Given the description of an element on the screen output the (x, y) to click on. 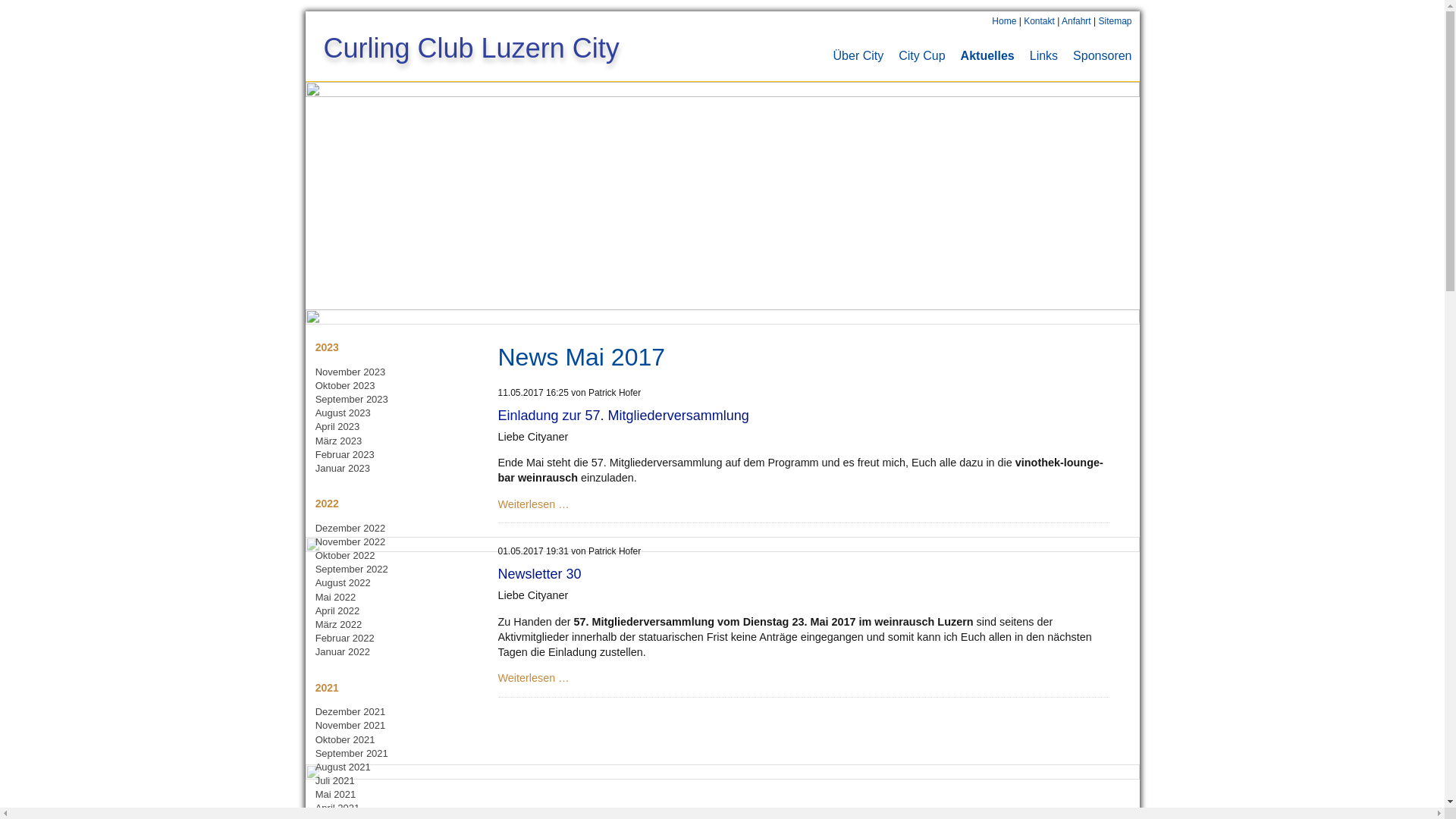
September 2022 Element type: text (351, 568)
Anfahrt Element type: text (1076, 20)
Dezember 2021 Element type: text (350, 711)
November 2022 Element type: text (350, 541)
Curling Club Luzern City Element type: text (731, 39)
Oktober 2021 Element type: text (345, 739)
Aktuelles Element type: text (987, 55)
Newsletter 30 Element type: text (538, 573)
2023 Element type: text (326, 347)
Links Element type: text (1043, 55)
Oktober 2023 Element type: text (345, 385)
Juli 2021 Element type: text (334, 780)
Oktober 2022 Element type: text (345, 555)
Februar 2023 Element type: text (344, 454)
Sitemap Element type: text (1114, 20)
Mai 2021 Element type: text (335, 794)
April 2021 Element type: text (337, 807)
Home Element type: text (1003, 20)
Mai 2022 Element type: text (335, 596)
2021 Element type: text (326, 687)
Einladung zur 57. Mitgliederversammlung Element type: text (622, 415)
November 2021 Element type: text (350, 725)
Februar 2022 Element type: text (344, 637)
Dezember 2022 Element type: text (350, 527)
April 2022 Element type: text (337, 610)
November 2023 Element type: text (350, 371)
August 2021 Element type: text (342, 766)
City Cup Element type: text (921, 55)
September 2023 Element type: text (351, 398)
Januar 2023 Element type: text (342, 467)
Kontakt Element type: text (1038, 20)
August 2023 Element type: text (342, 412)
2022 Element type: text (326, 503)
Januar 2022 Element type: text (342, 651)
August 2022 Element type: text (342, 582)
September 2021 Element type: text (351, 753)
Sponsoren Element type: text (1102, 55)
April 2023 Element type: text (337, 426)
